Given the description of an element on the screen output the (x, y) to click on. 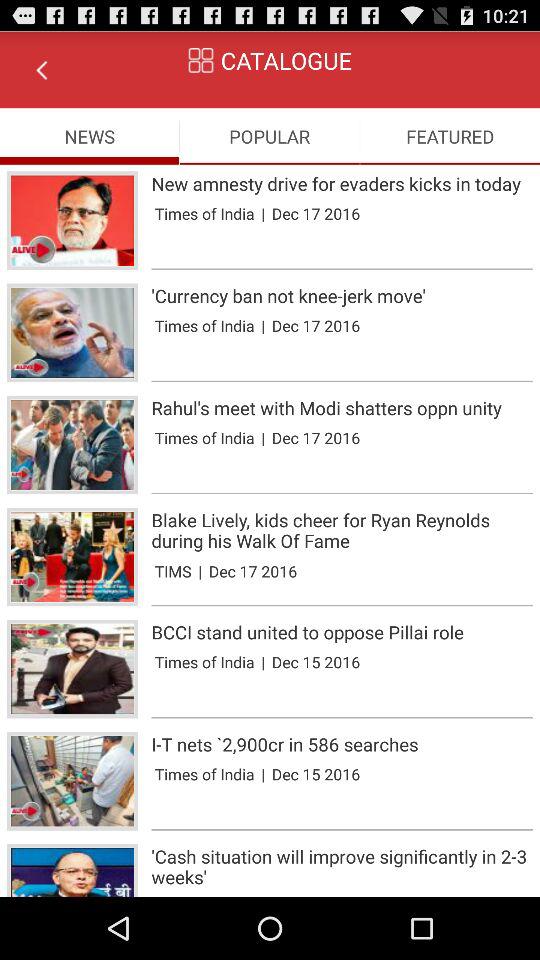
select the item to the right of news (269, 136)
